Given the description of an element on the screen output the (x, y) to click on. 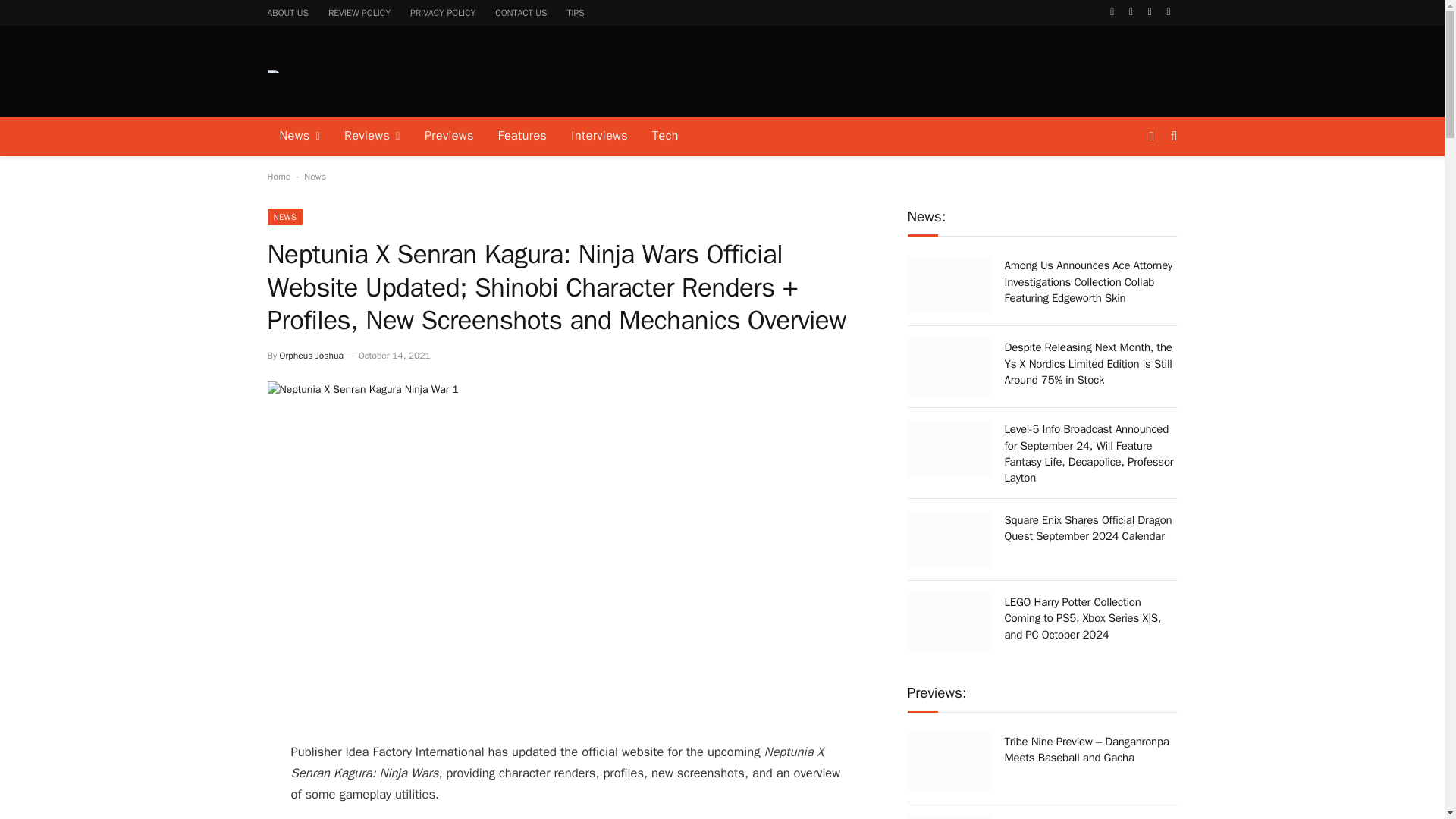
NEWS (284, 216)
PRIVACY POLICY (442, 12)
Interviews (599, 136)
CONTACT US (520, 12)
ABOUT US (287, 12)
Home (277, 176)
News (315, 176)
Previews (449, 136)
News (298, 136)
TIPS (575, 12)
